Given the description of an element on the screen output the (x, y) to click on. 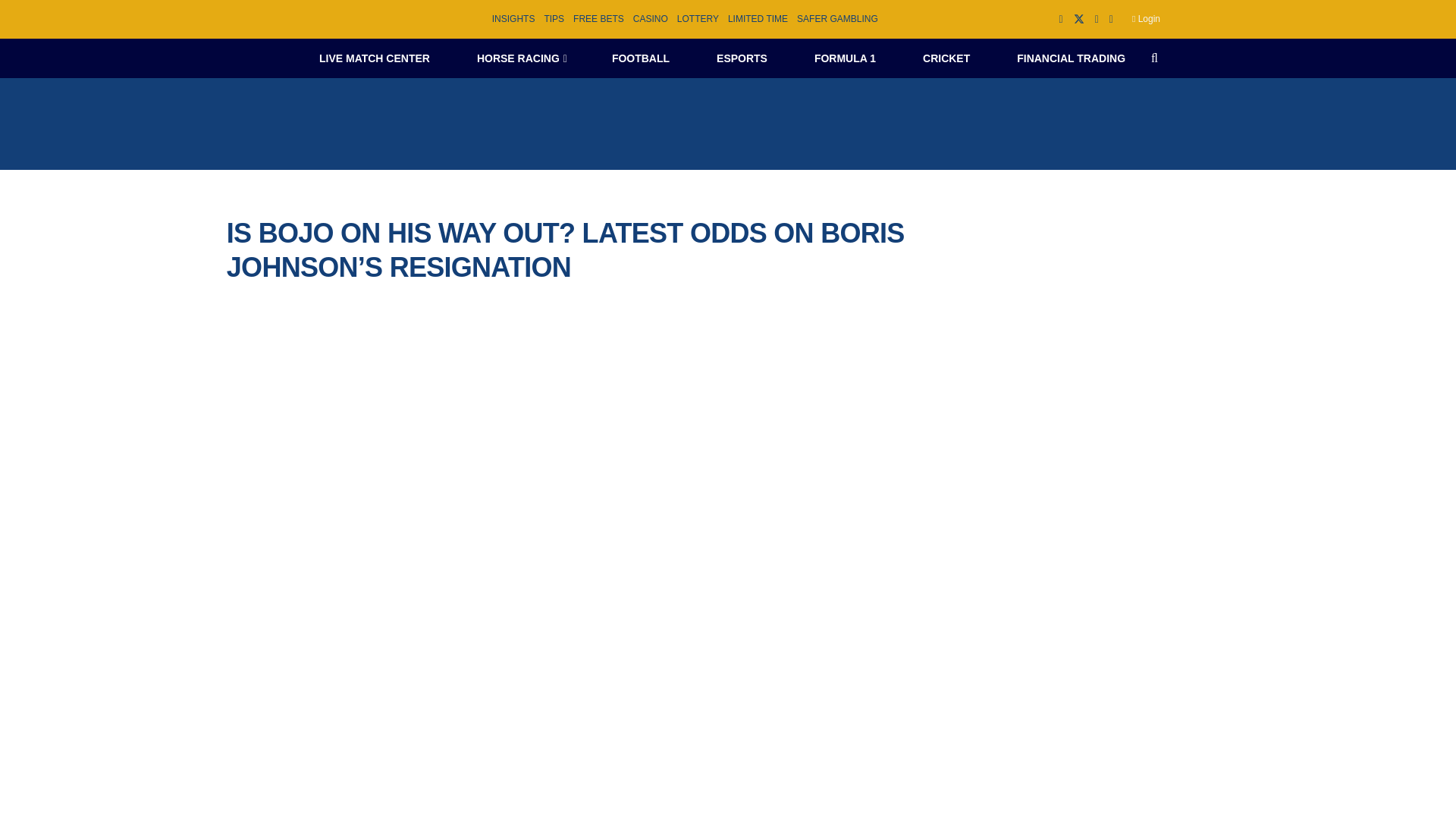
FORMULA 1 (844, 57)
FREE BETS (598, 19)
SAFER GAMBLING (836, 19)
LIVE MATCH CENTER (373, 57)
CRICKET (945, 57)
FOOTBALL (640, 57)
LOTTERY (698, 19)
CASINO (650, 19)
LIMITED TIME (757, 19)
HORSE RACING (520, 57)
